Given the description of an element on the screen output the (x, y) to click on. 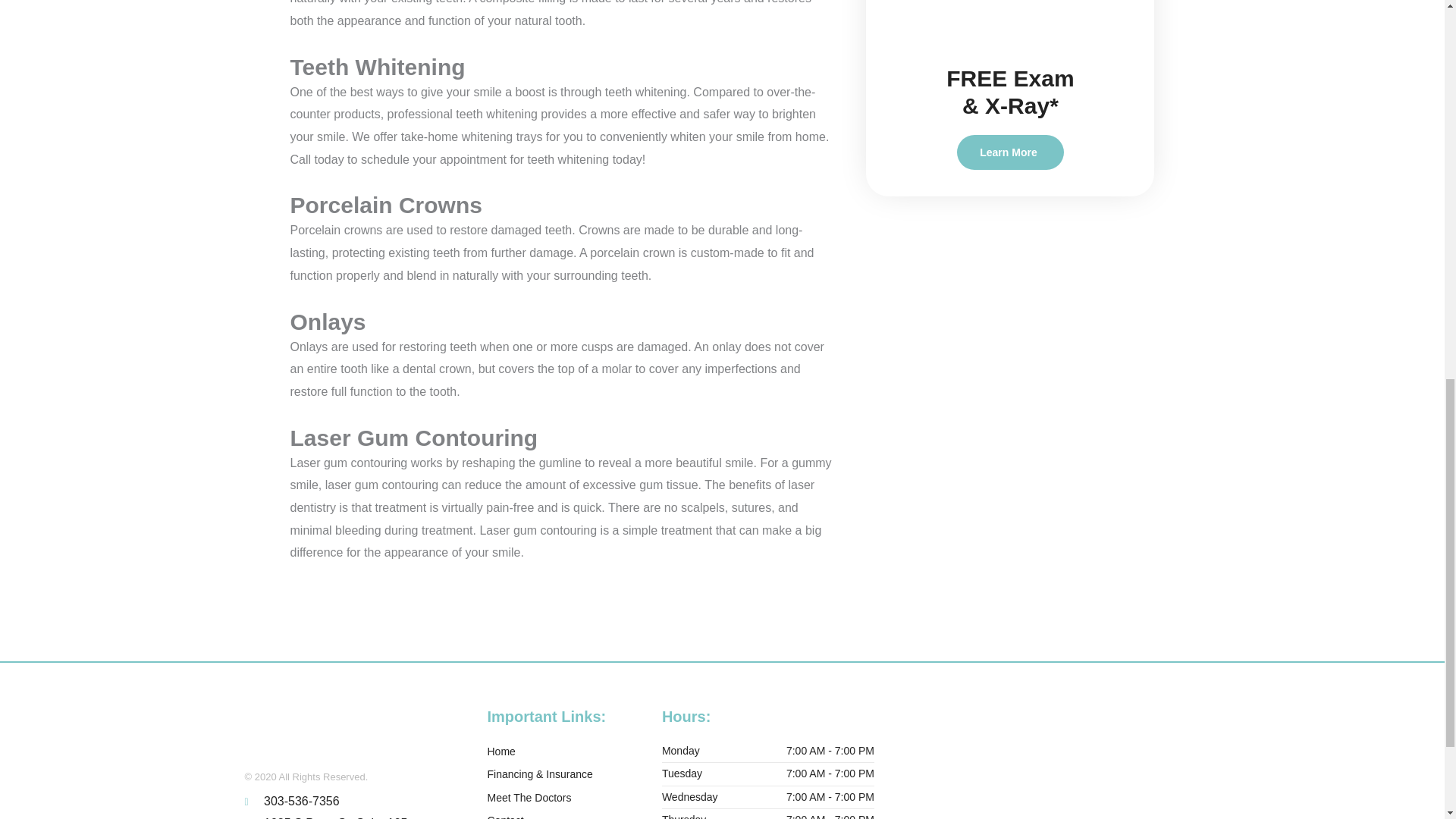
family doing laundry (1010, 24)
303-536-7356 (350, 801)
Learn More (1009, 152)
